Given the description of an element on the screen output the (x, y) to click on. 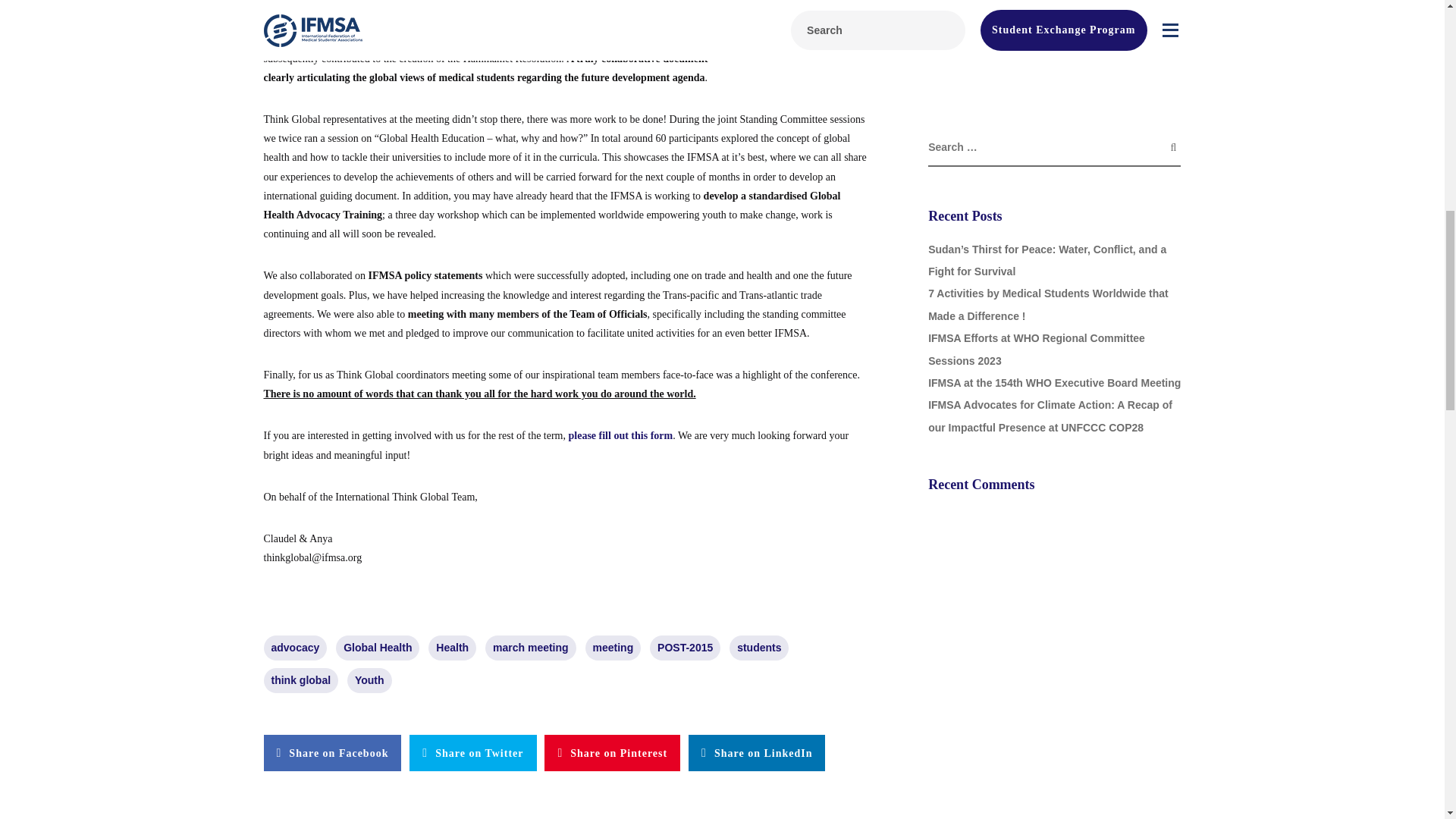
Share on Facebook (332, 752)
students (759, 647)
Global Health (377, 647)
please fill out this form (620, 435)
Youth (369, 680)
POST-2015 (684, 647)
march meeting (530, 647)
meeting (613, 647)
Share on LinkedIn (756, 752)
Health (452, 647)
Share on Twitter (472, 752)
advocacy (295, 647)
Share on Pinterest (611, 752)
think global (301, 680)
